Given the description of an element on the screen output the (x, y) to click on. 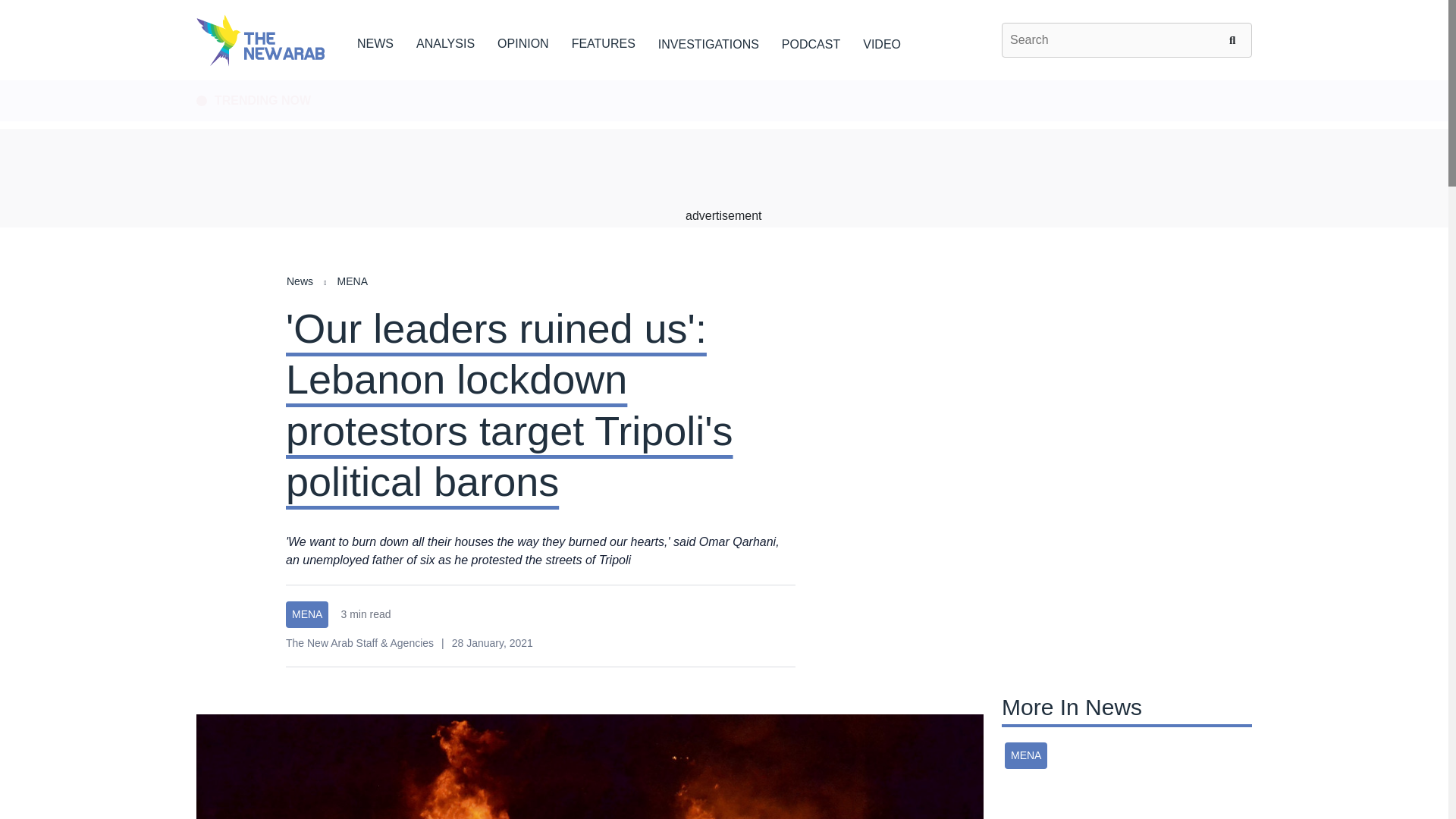
OPINION (523, 41)
NEWS (375, 41)
Search (1234, 39)
Skip to main content (724, 81)
ANALYSIS (445, 41)
